Given the description of an element on the screen output the (x, y) to click on. 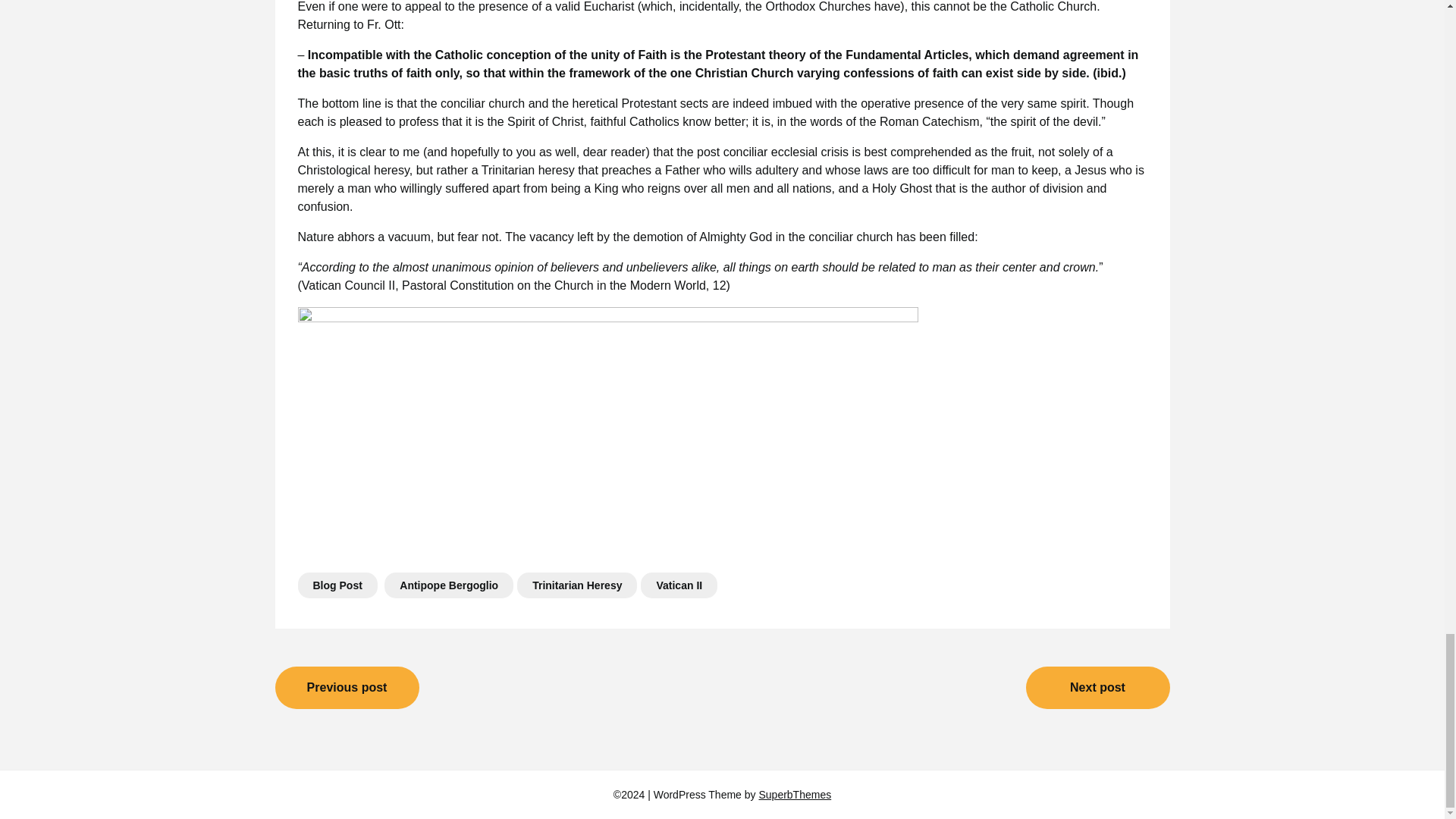
SuperbThemes (794, 794)
Blog Post (337, 585)
Antipope Bergoglio (448, 585)
Previous post (347, 687)
Trinitarian Heresy (576, 585)
Vatican II (678, 585)
Next post (1097, 687)
